Given the description of an element on the screen output the (x, y) to click on. 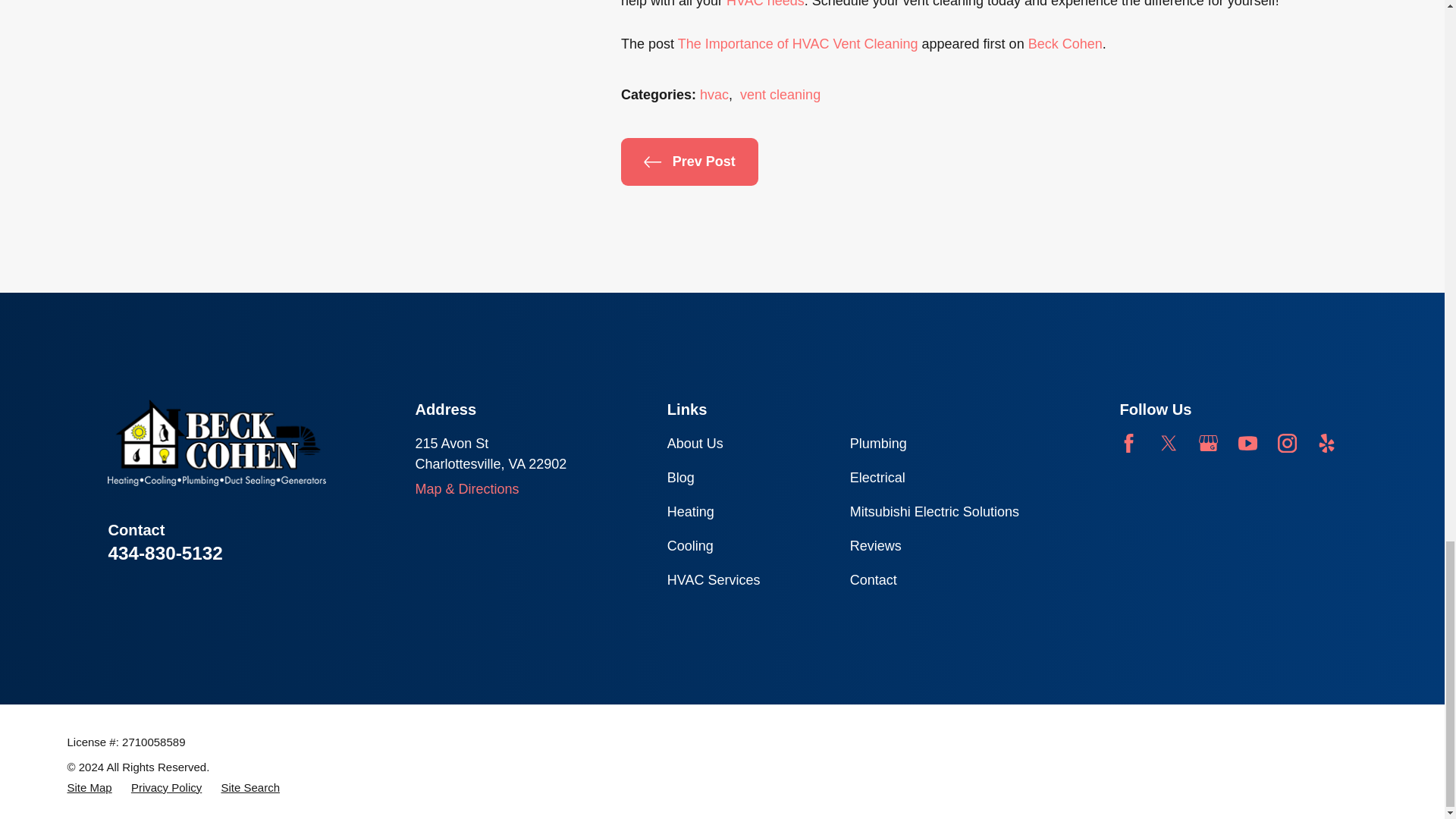
Google Business Profile (1207, 443)
Home (216, 442)
Facebook (1128, 443)
Twitter (1167, 443)
